Given the description of an element on the screen output the (x, y) to click on. 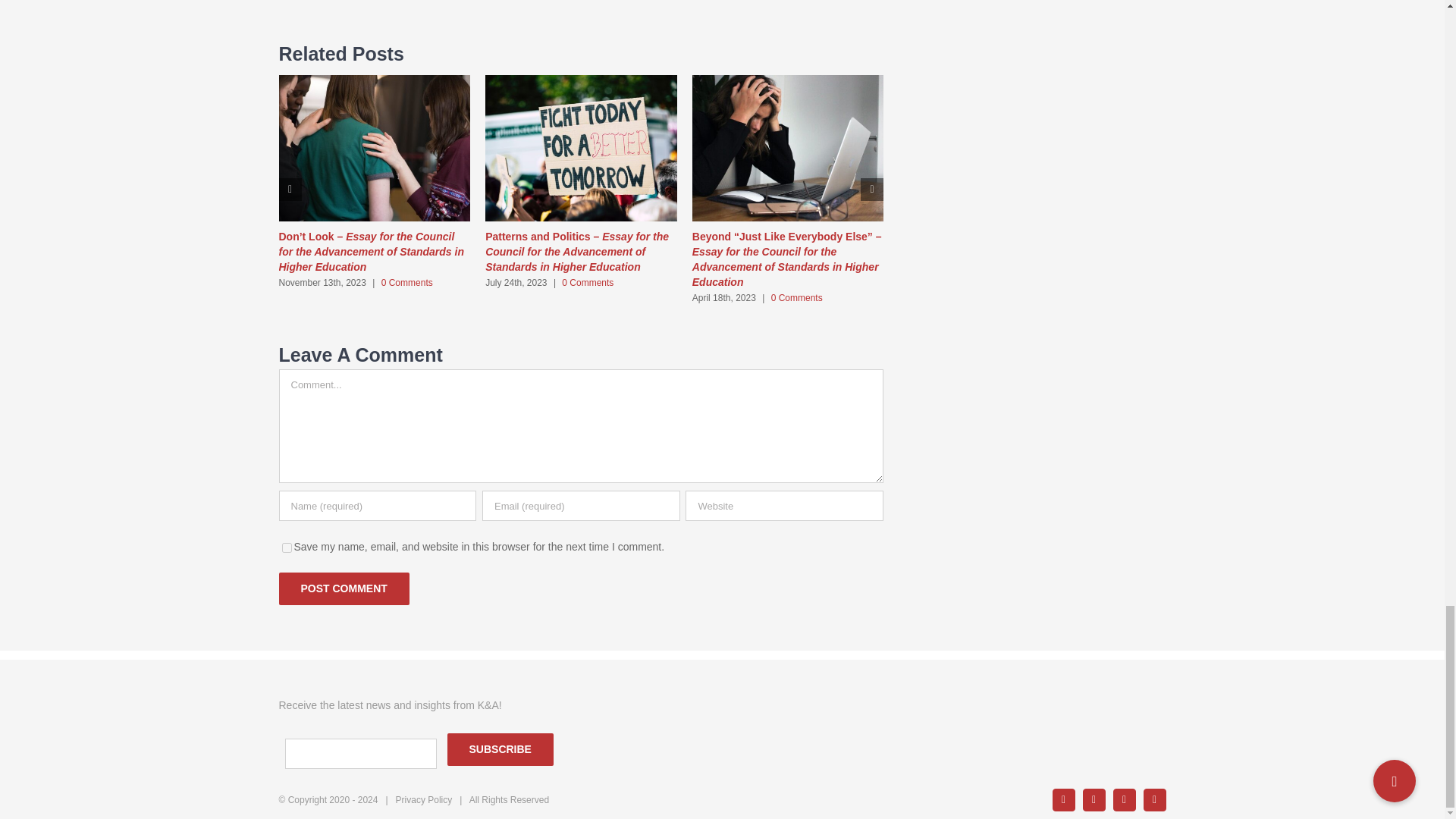
Subscribe (499, 749)
Post Comment (344, 588)
yes (287, 547)
